Given the description of an element on the screen output the (x, y) to click on. 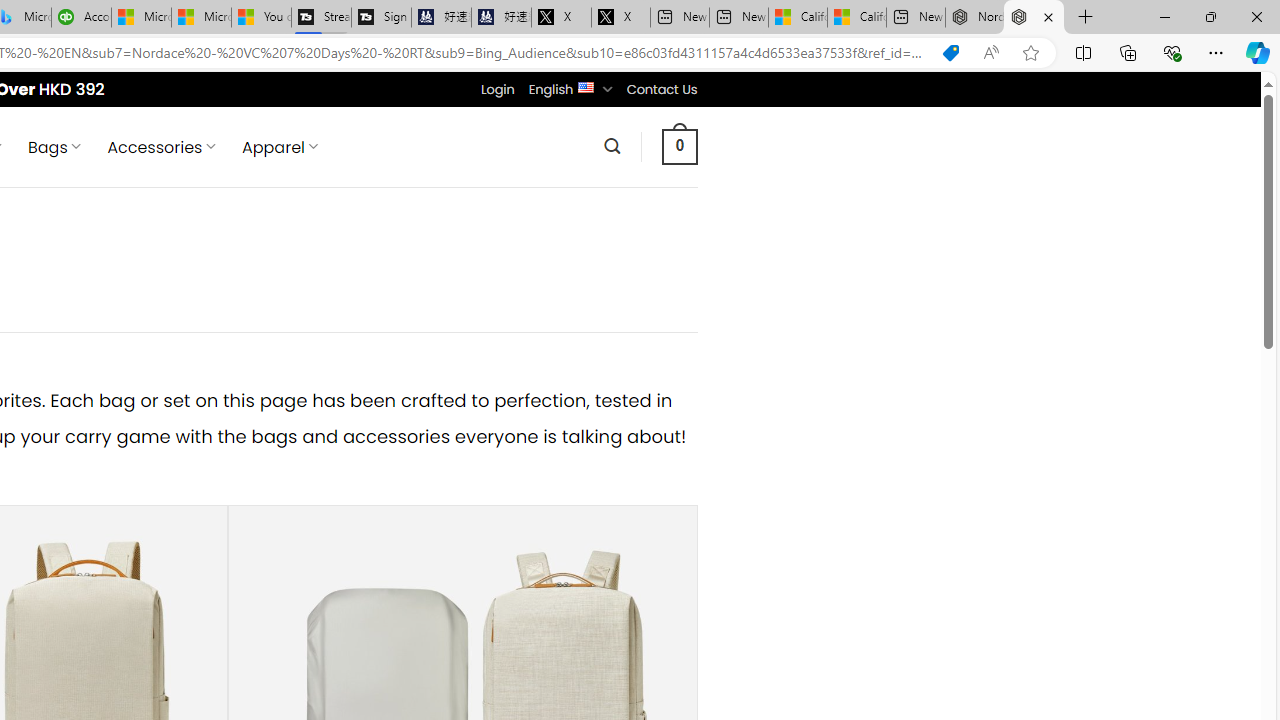
Login (497, 89)
